Given the description of an element on the screen output the (x, y) to click on. 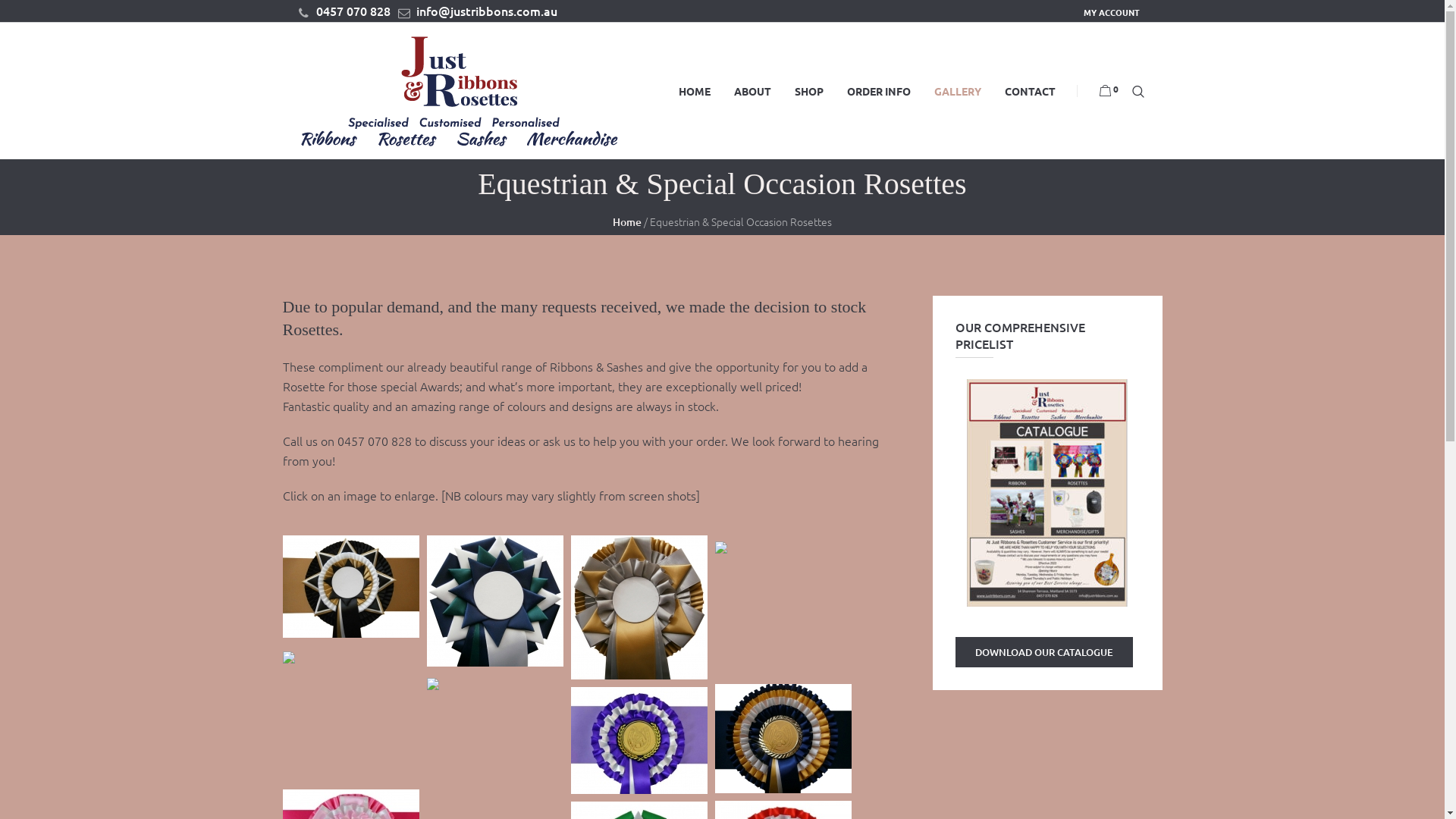
JR465-3 Element type: hover (720, 544)
Home Element type: text (626, 221)
ORDER INFO Element type: text (878, 90)
CONTACT Element type: text (1029, 90)
JR1150 Element type: hover (494, 598)
JR1150 Element type: hover (494, 600)
JR0850 Element type: hover (350, 586)
JR465-4 Element type: hover (782, 736)
0457 070 828 Element type: text (343, 10)
ABOUT Element type: text (751, 90)
3-Tier Rainbow Rosettes Element type: hover (288, 657)
MY ACCOUNT Element type: text (1110, 11)
DOWNLOAD OUR CATALOGUE Element type: text (1043, 652)
HOME Element type: text (694, 90)
1; 2 & 3-Tier Rainbow Rosettes Element type: hover (432, 685)
JR0850 Element type: hover (350, 584)
info@justribbons.com.au Element type: text (476, 10)
JR365-3 Element type: hover (638, 738)
JR465-4 Element type: hover (782, 738)
JR0750 Element type: hover (638, 604)
JR0750 Element type: hover (638, 607)
0 Element type: text (1108, 91)
3-Tier Rainbow Rosettes Element type: hover (288, 654)
JR365-3 Element type: hover (638, 740)
GALLERY Element type: text (956, 90)
JR465-3 Element type: hover (720, 547)
SHOP Element type: text (808, 90)
Available in a variety of designs - popular beyond belief. Element type: hover (432, 683)
